Given the description of an element on the screen output the (x, y) to click on. 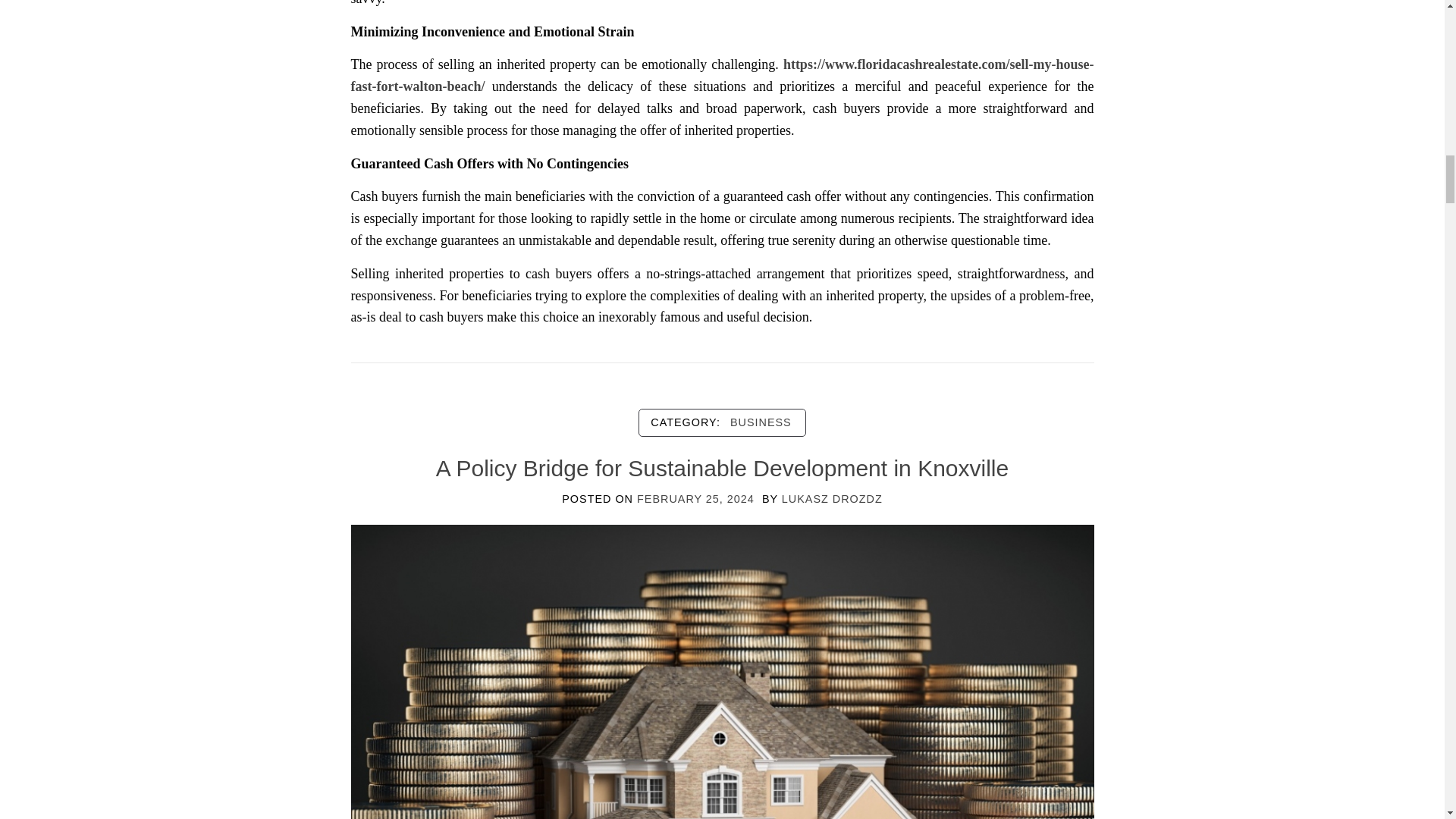
LUKASZ DROZDZ (831, 499)
FEBRUARY 25, 2024 (695, 499)
A Policy Bridge for Sustainable Development in Knoxville (722, 467)
BUSINESS (760, 422)
A Policy Bridge for Sustainable Development in Knoxville (721, 733)
